Given the description of an element on the screen output the (x, y) to click on. 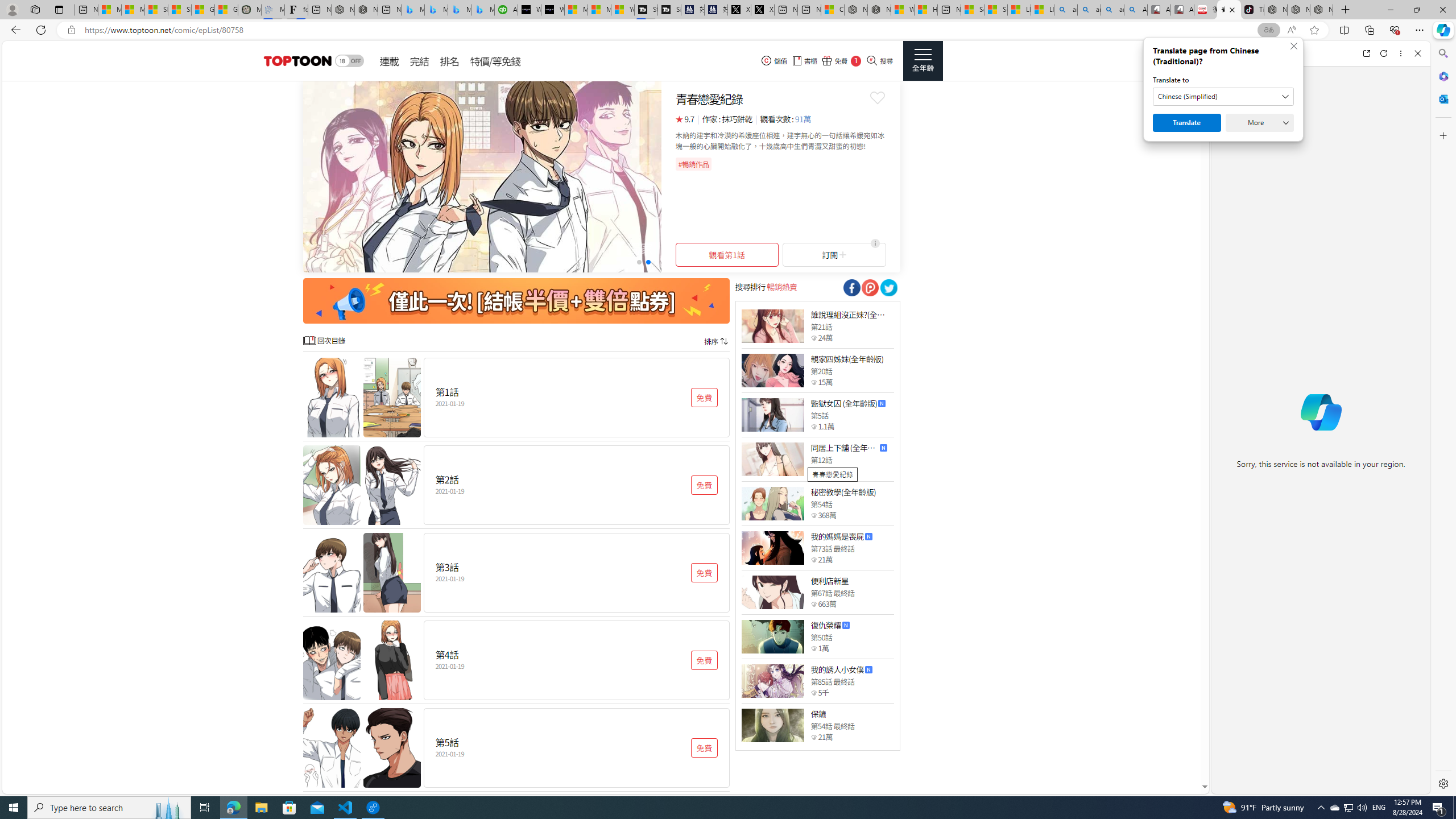
Manatee Mortality Statistics | FWC (249, 9)
